Given the description of an element on the screen output the (x, y) to click on. 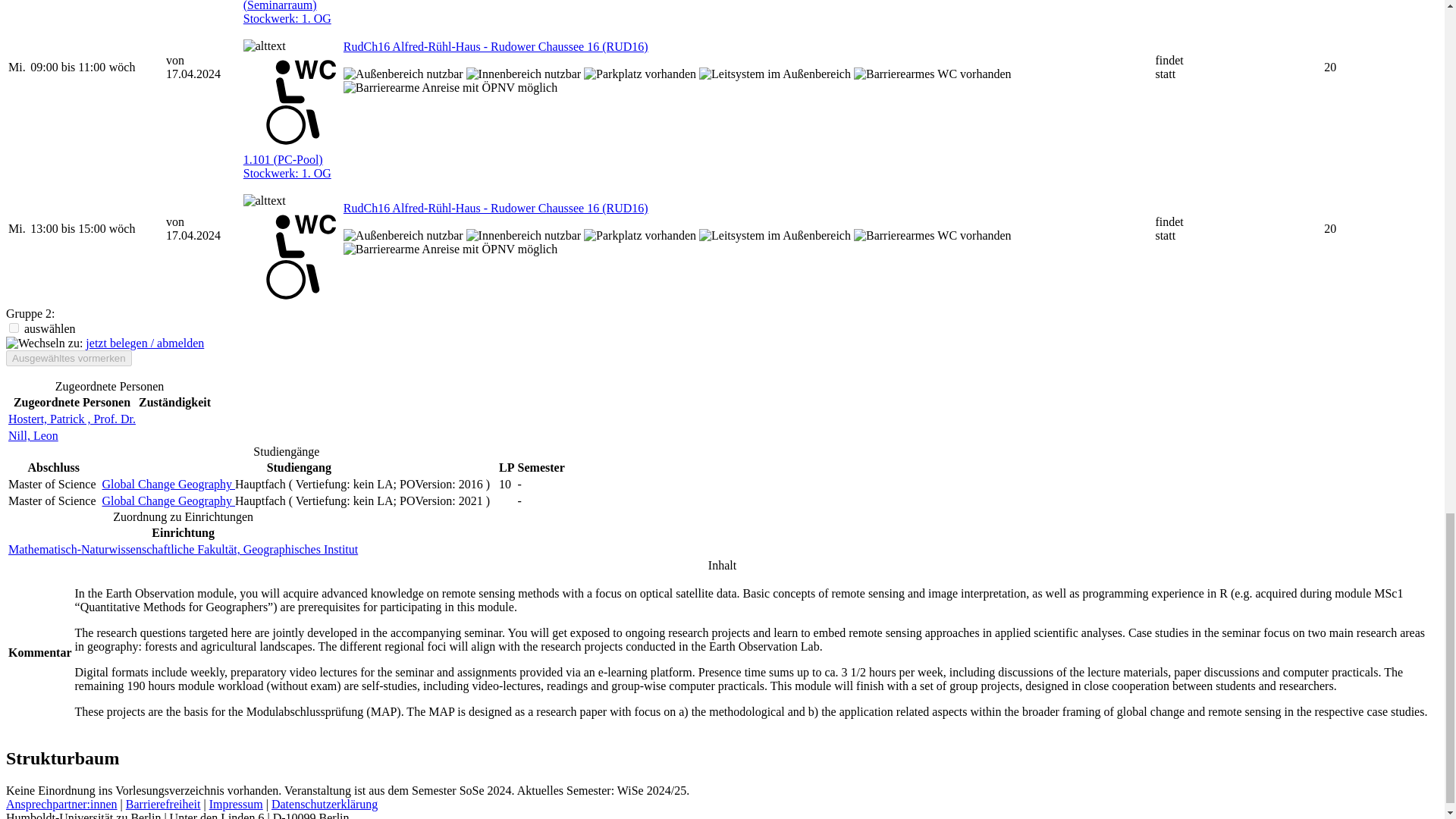
Global Change Geography (168, 483)
Hostert, Patrick , Prof. Dr. (71, 418)
2 (13, 327)
Nill, Leon (33, 435)
